Given the description of an element on the screen output the (x, y) to click on. 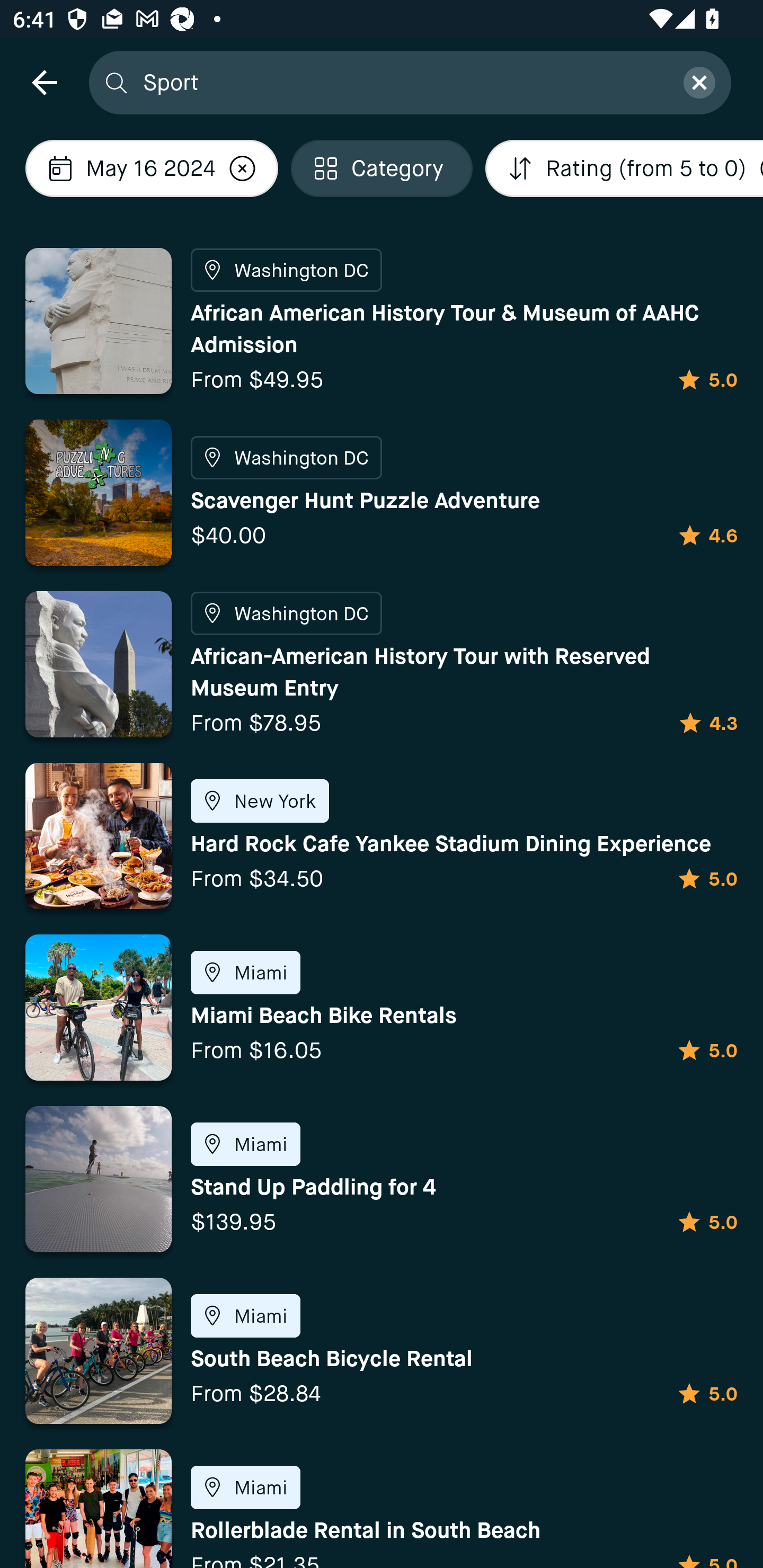
navigation icon (44, 81)
Sport (402, 81)
Localized description (242, 168)
Localized description Category (381, 168)
